Given the description of an element on the screen output the (x, y) to click on. 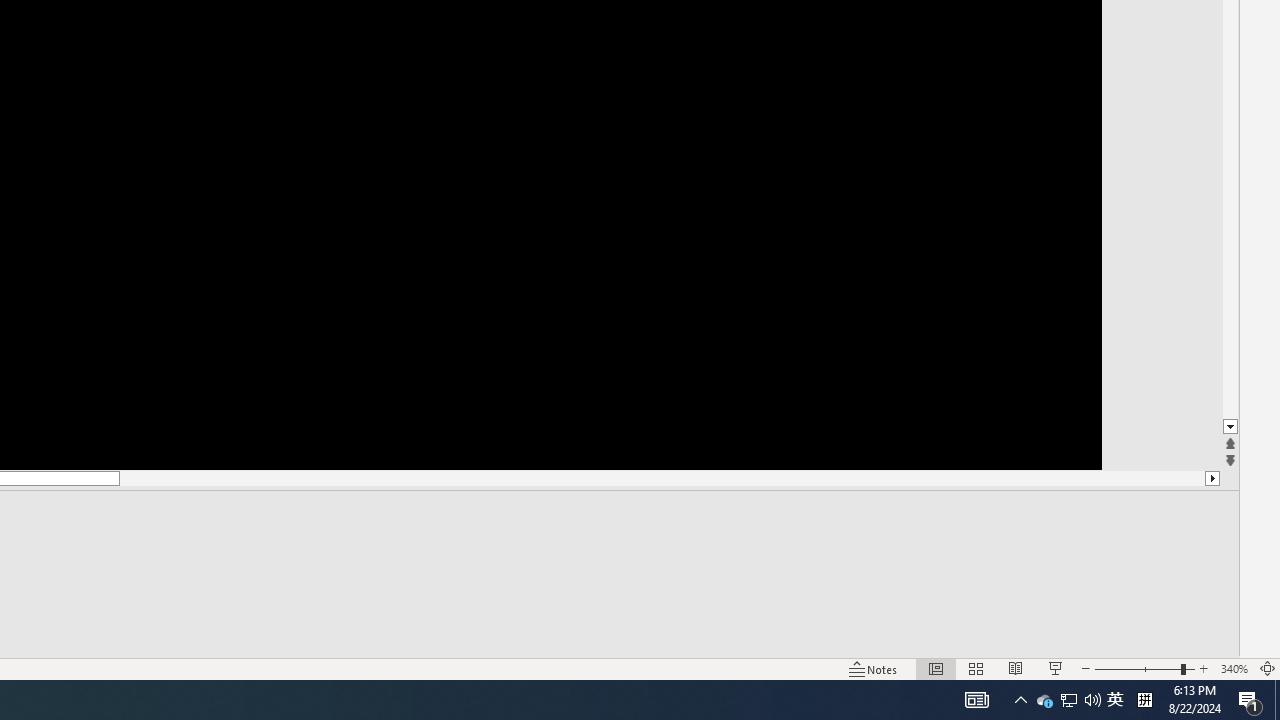
Zoom 340% (1234, 668)
